Given the description of an element on the screen output the (x, y) to click on. 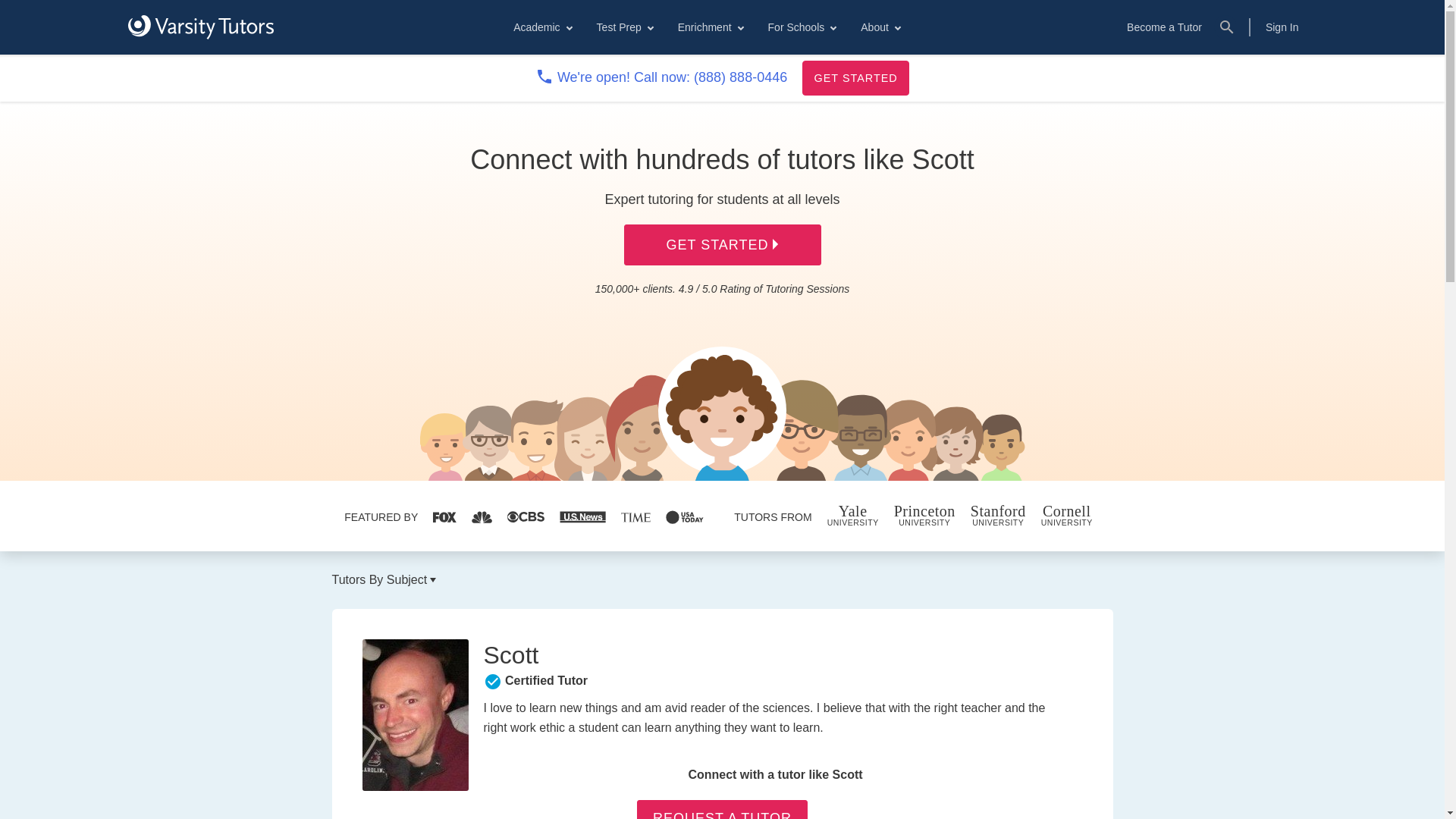
GET STARTED (855, 77)
Academic (541, 27)
Varsity Tutors (200, 27)
Varsity Tutors (200, 26)
